Given the description of an element on the screen output the (x, y) to click on. 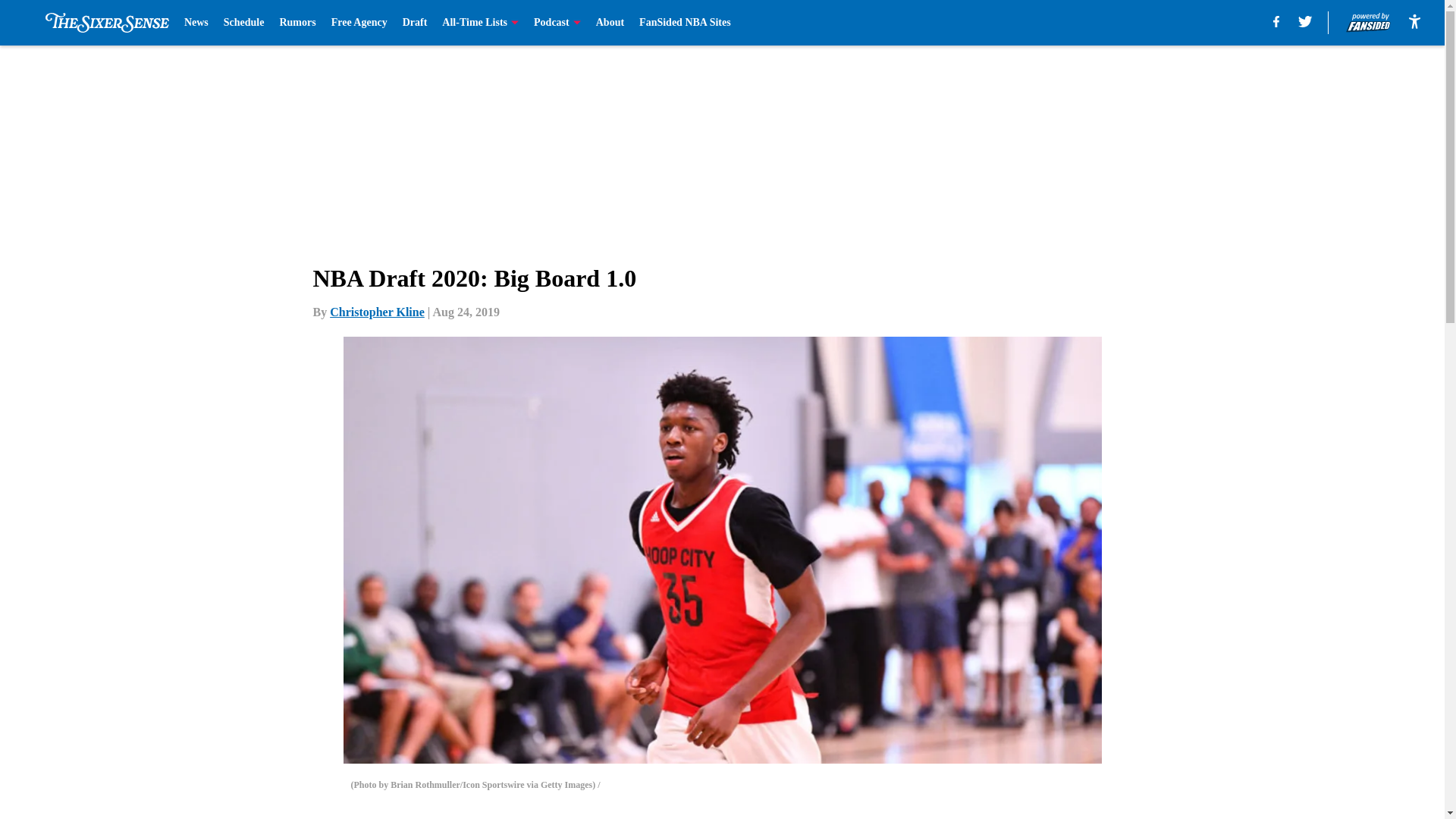
News (196, 22)
All-Time Lists (480, 22)
Rumors (297, 22)
Christopher Kline (377, 311)
FanSided NBA Sites (684, 22)
Draft (415, 22)
Schedule (244, 22)
About (609, 22)
Free Agency (359, 22)
